Given the description of an element on the screen output the (x, y) to click on. 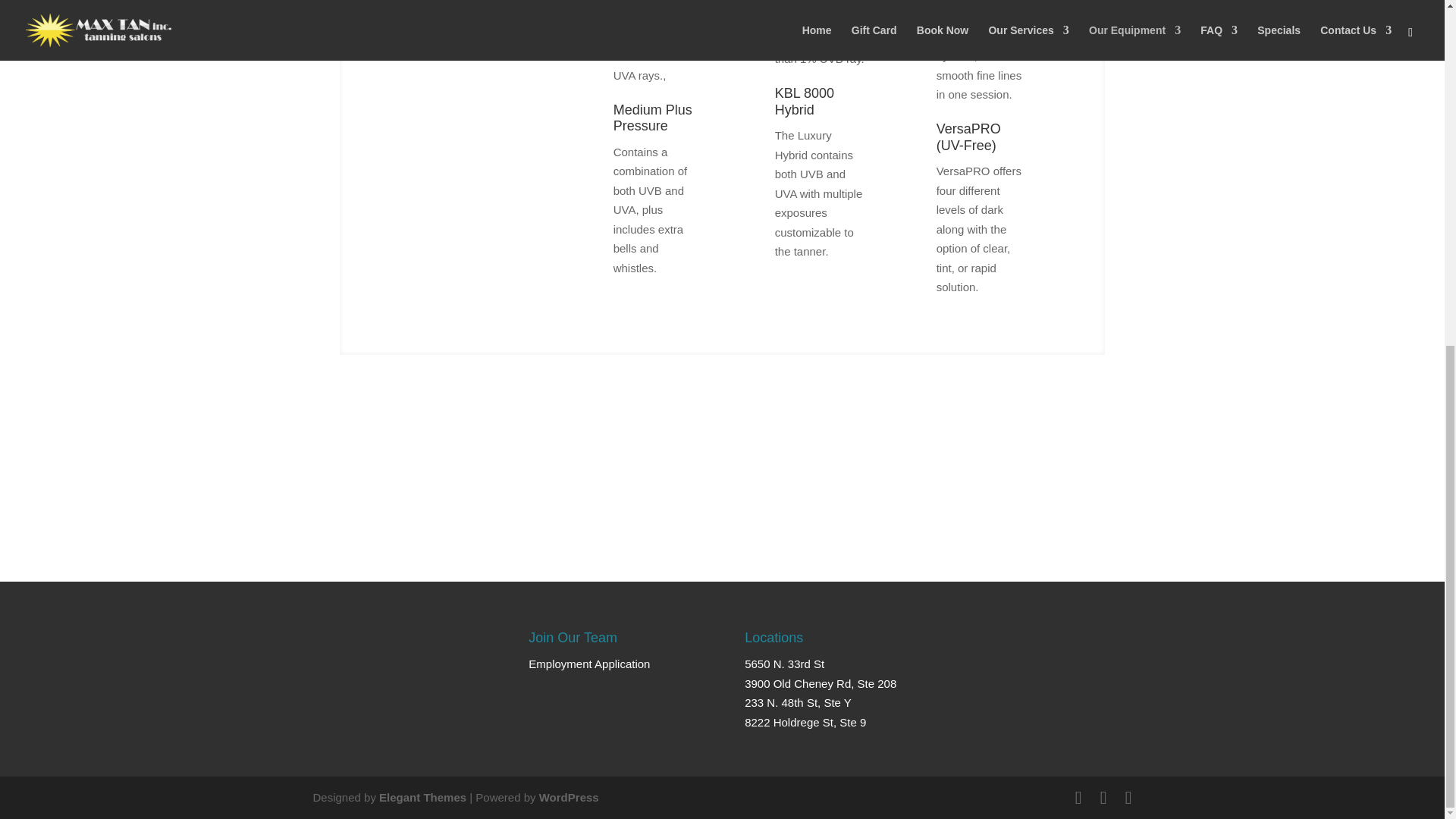
Employment Application (588, 663)
KBL 8000 Hybrid (804, 101)
Premium WordPress Themes (421, 797)
Find a location near you! (722, 501)
